Given the description of an element on the screen output the (x, y) to click on. 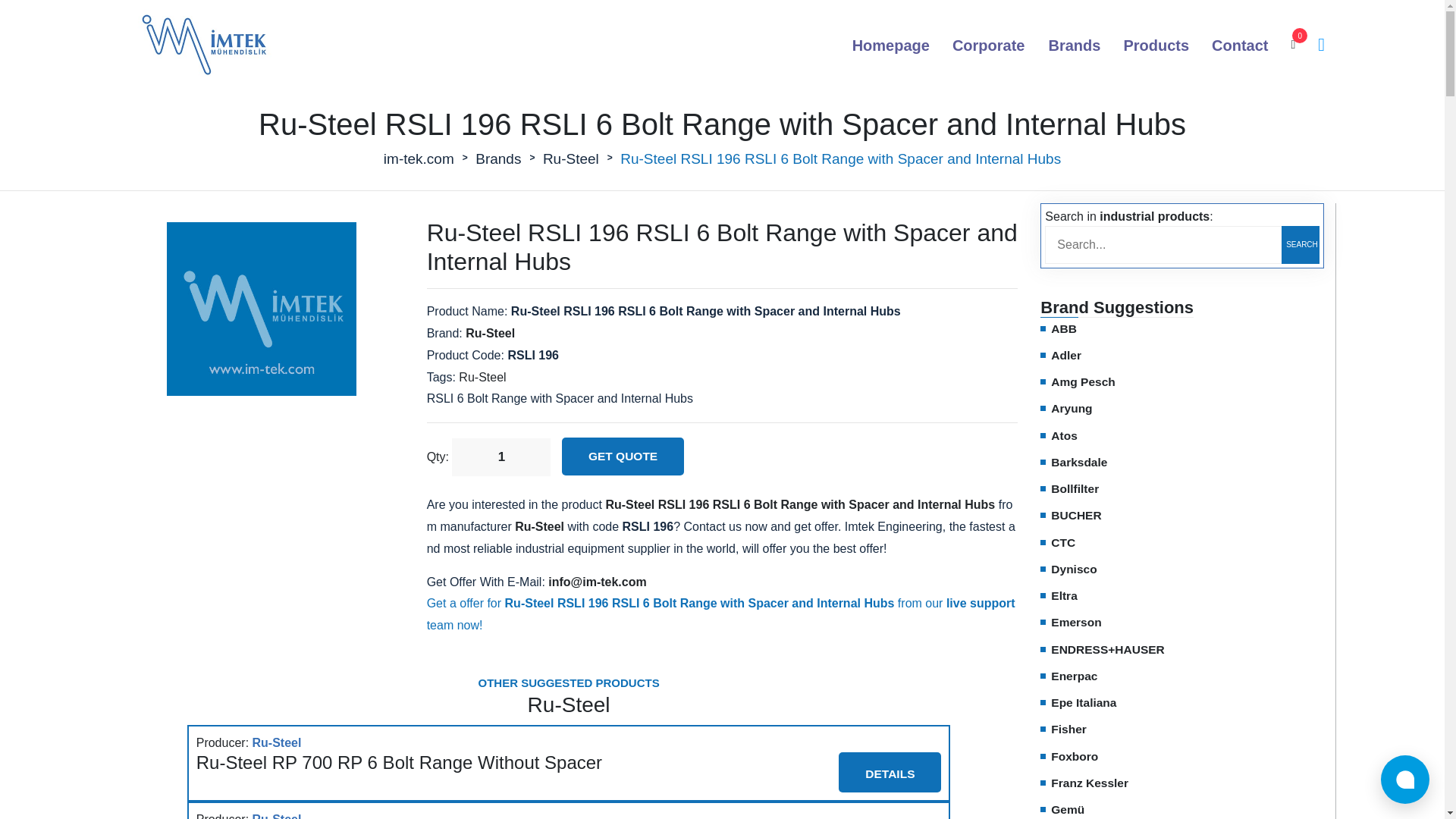
Check out all industrial products! (1155, 45)
Ru-Steel RP 700 RP 6 Bolt Range Without Spacer (399, 762)
Homepage (890, 45)
Check out all industrial brands! (1074, 45)
Brands (498, 159)
Ru-Steel (276, 814)
GET QUOTE (623, 456)
Contact (1239, 45)
Products (1155, 45)
Ru-Steel (490, 332)
Get Offer With Mail Now! (597, 581)
